Given the description of an element on the screen output the (x, y) to click on. 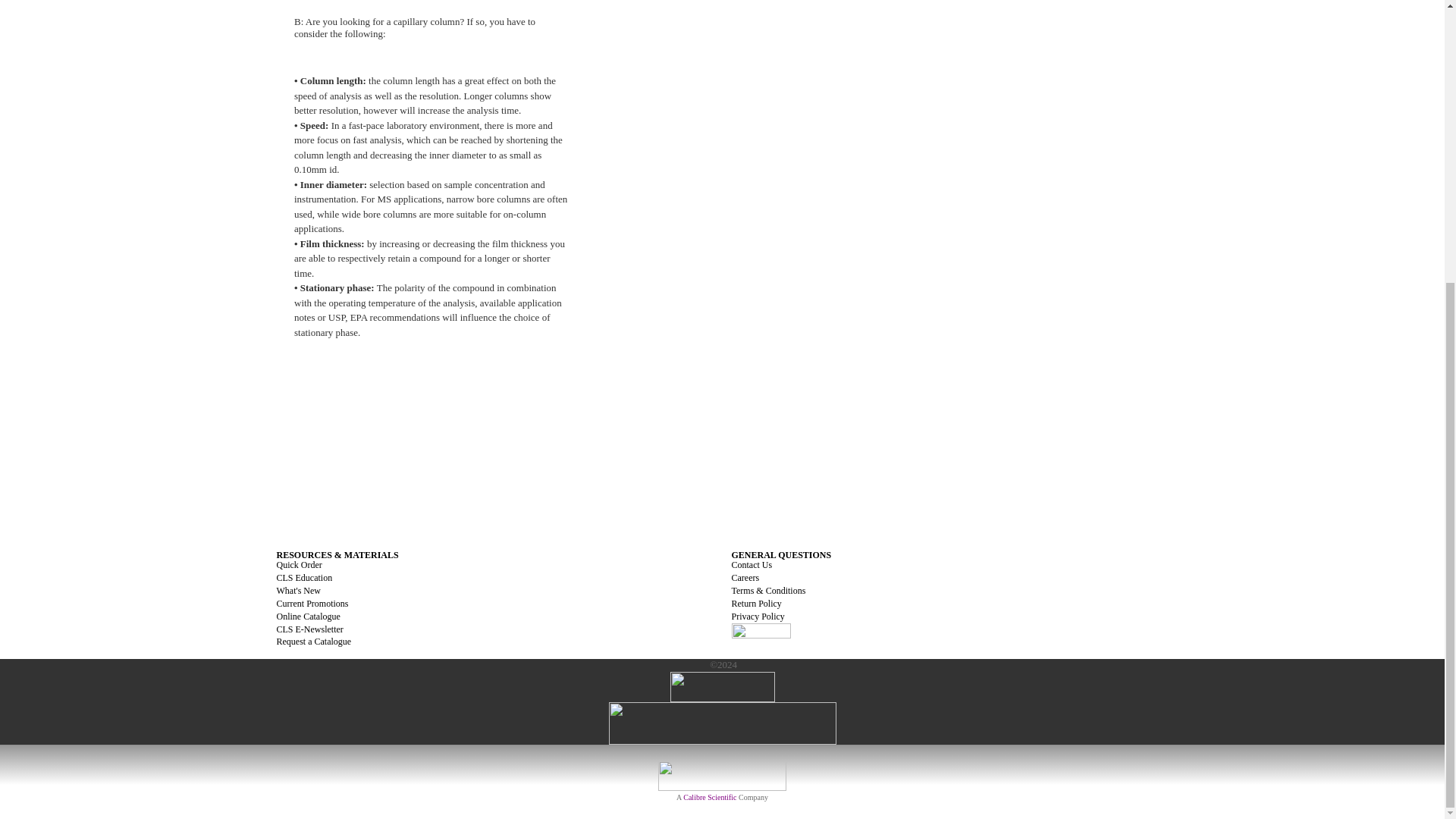
CLS Education (303, 577)
Quick Order (298, 564)
Current Promotions (311, 603)
What's New (298, 590)
